Given the description of an element on the screen output the (x, y) to click on. 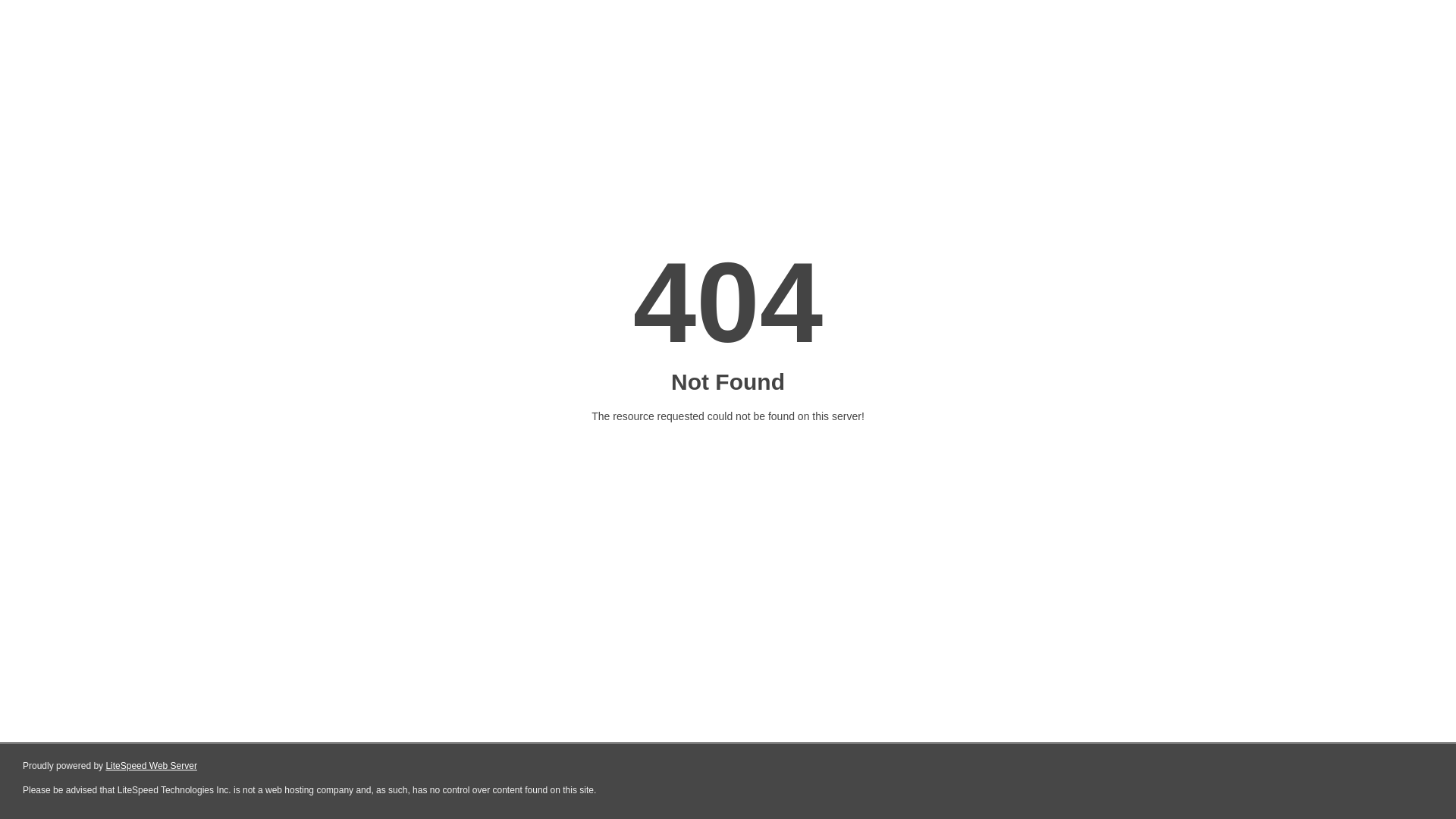
LiteSpeed Web Server Element type: text (151, 765)
